Given the description of an element on the screen output the (x, y) to click on. 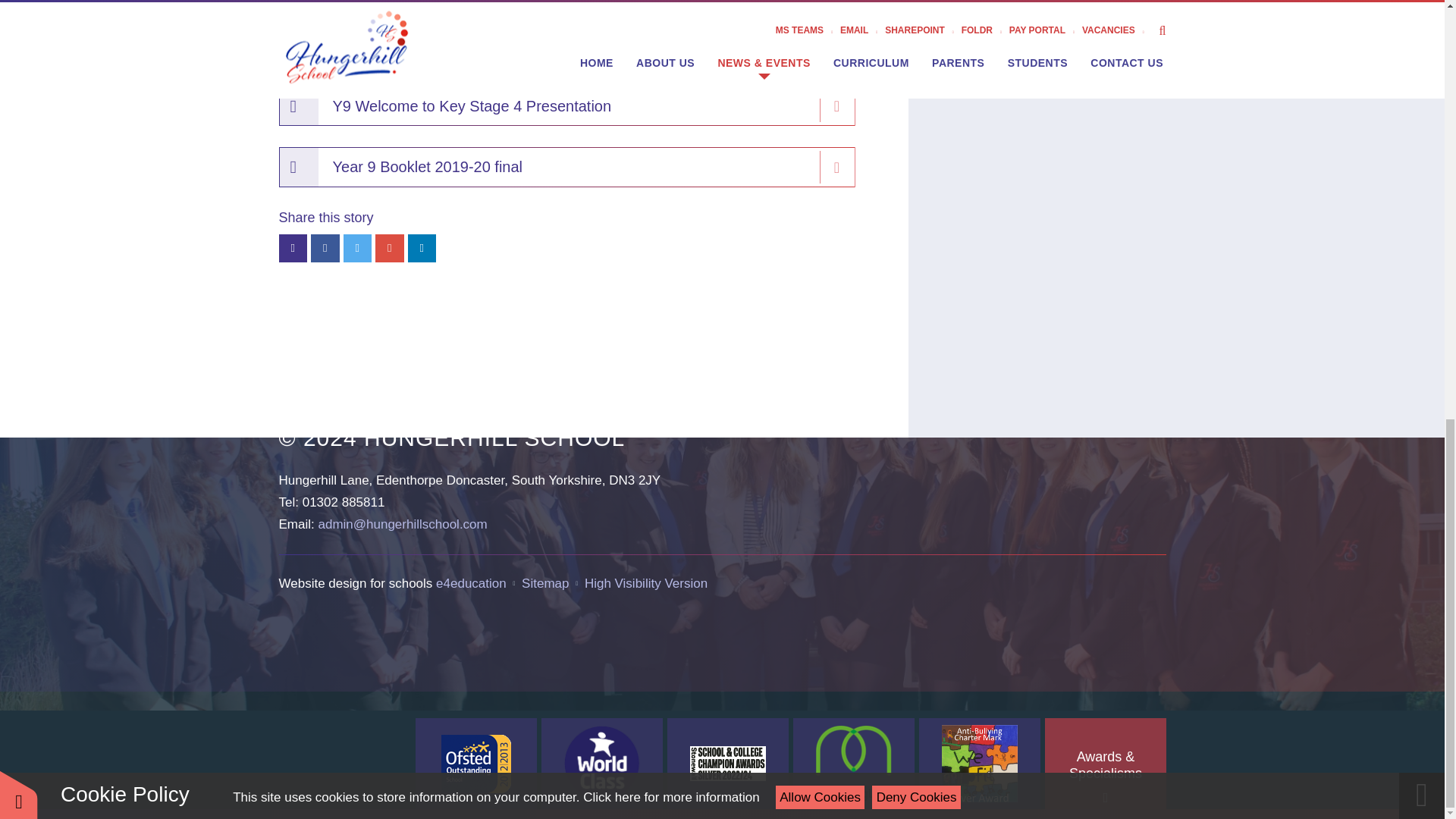
Anti -Bullying (979, 763)
WCSQM (601, 763)
MHA (853, 763)
Ofsted (475, 763)
Stonewall School Champion (727, 763)
